Given the description of an element on the screen output the (x, y) to click on. 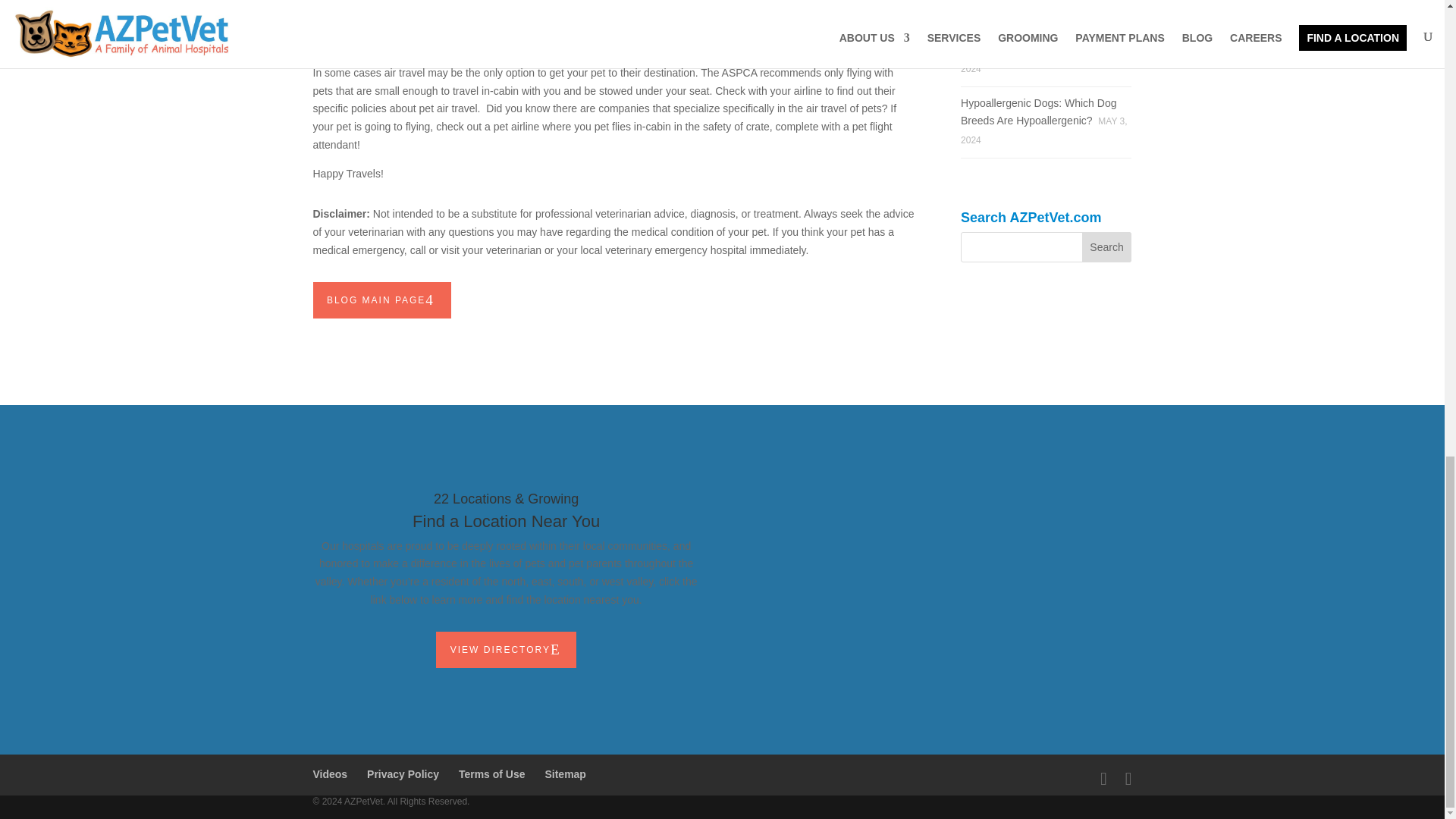
Search (1106, 246)
BLOG MAIN PAGE (382, 299)
Privacy Policy (402, 774)
VIEW DIRECTORY (505, 649)
Terms of Use (491, 774)
Sitemap (564, 774)
Videos (330, 774)
Search (1106, 246)
Hypoallergenic Dogs: Which Dog Breeds Are Hypoallergenic?  (1038, 112)
